Given the description of an element on the screen output the (x, y) to click on. 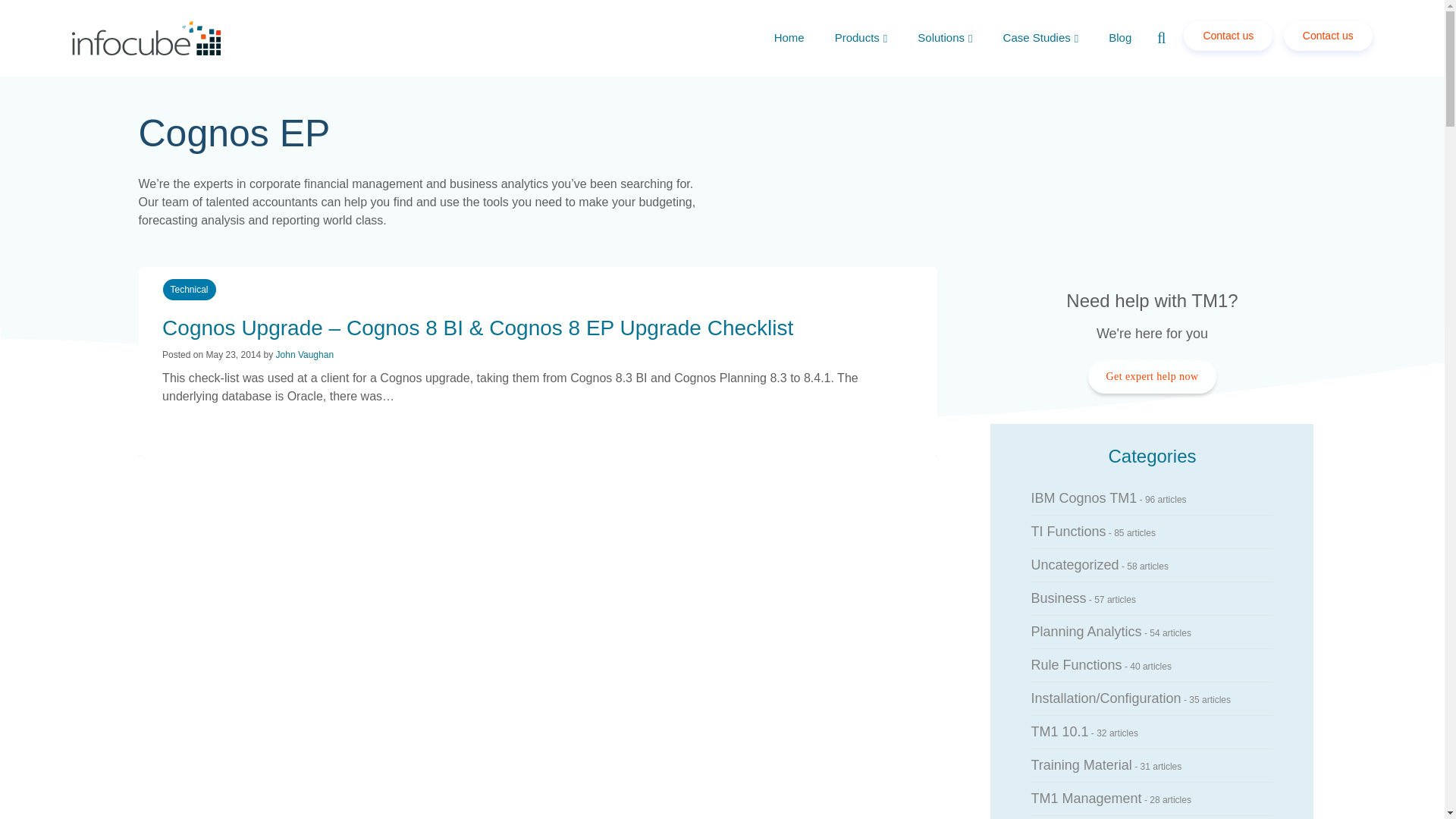
Contact us (1227, 35)
Home (788, 37)
Contact us (1224, 34)
Products (860, 38)
Contact us (1328, 35)
Contact us (1324, 34)
